Given the description of an element on the screen output the (x, y) to click on. 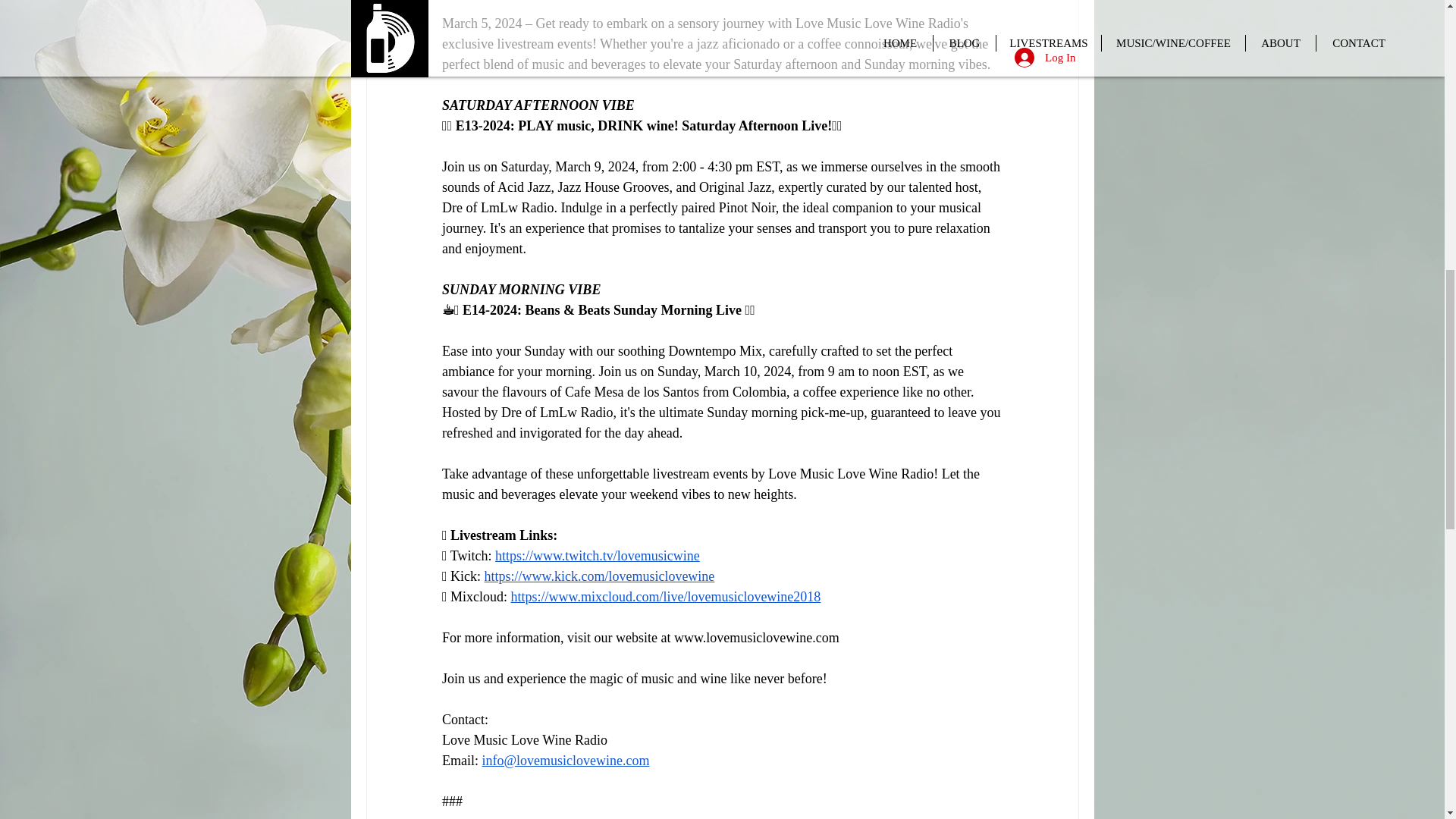
www.lovemusiclovewine.com (755, 637)
